Given the description of an element on the screen output the (x, y) to click on. 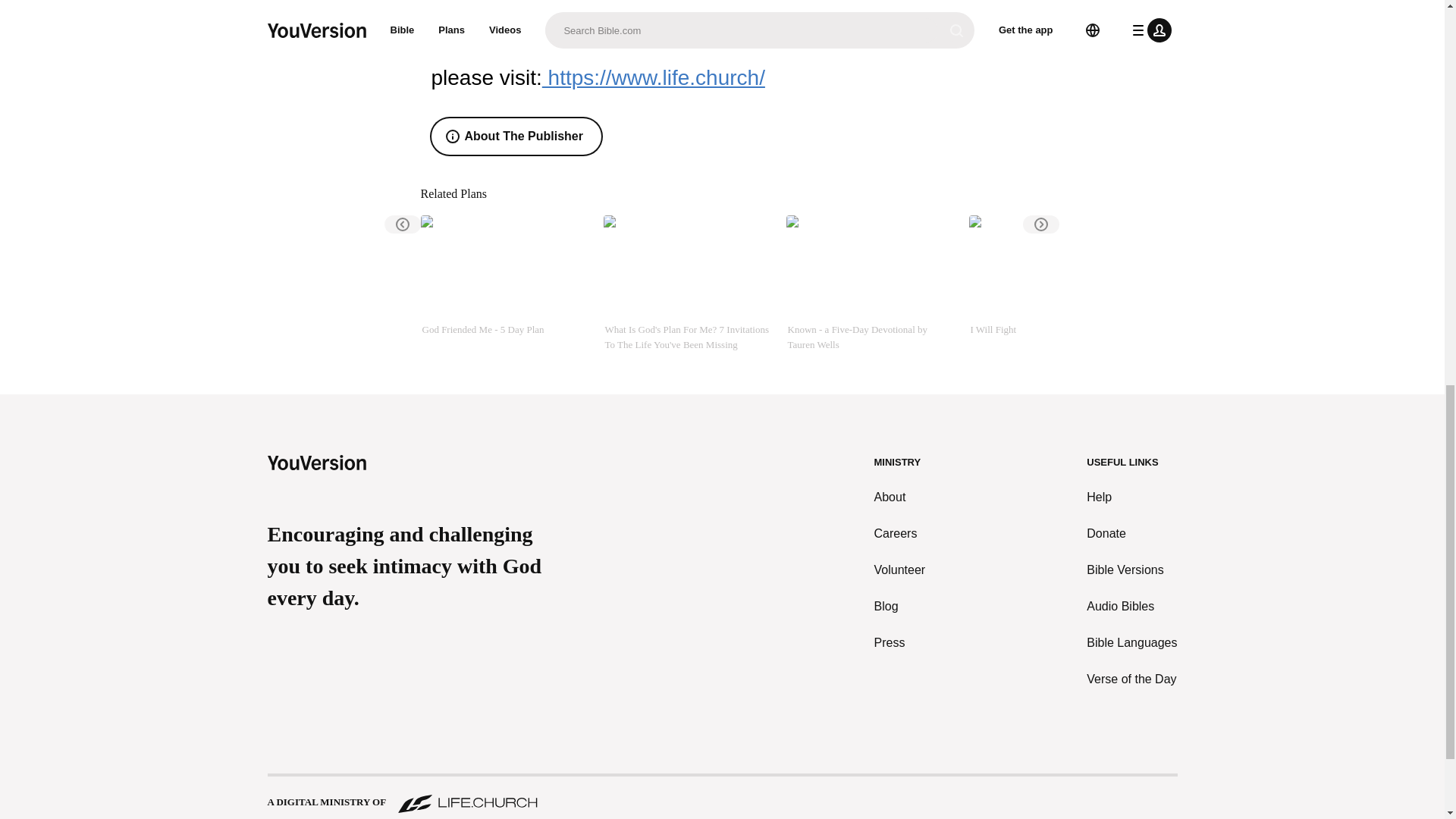
Press (900, 642)
Careers (900, 533)
I Will Fight (1054, 283)
Donate (1131, 533)
About The Publisher (514, 135)
Bible Versions (1131, 570)
Audio Bibles (1131, 606)
About (900, 497)
God Friended Me - 5 Day Plan (505, 283)
